Given the description of an element on the screen output the (x, y) to click on. 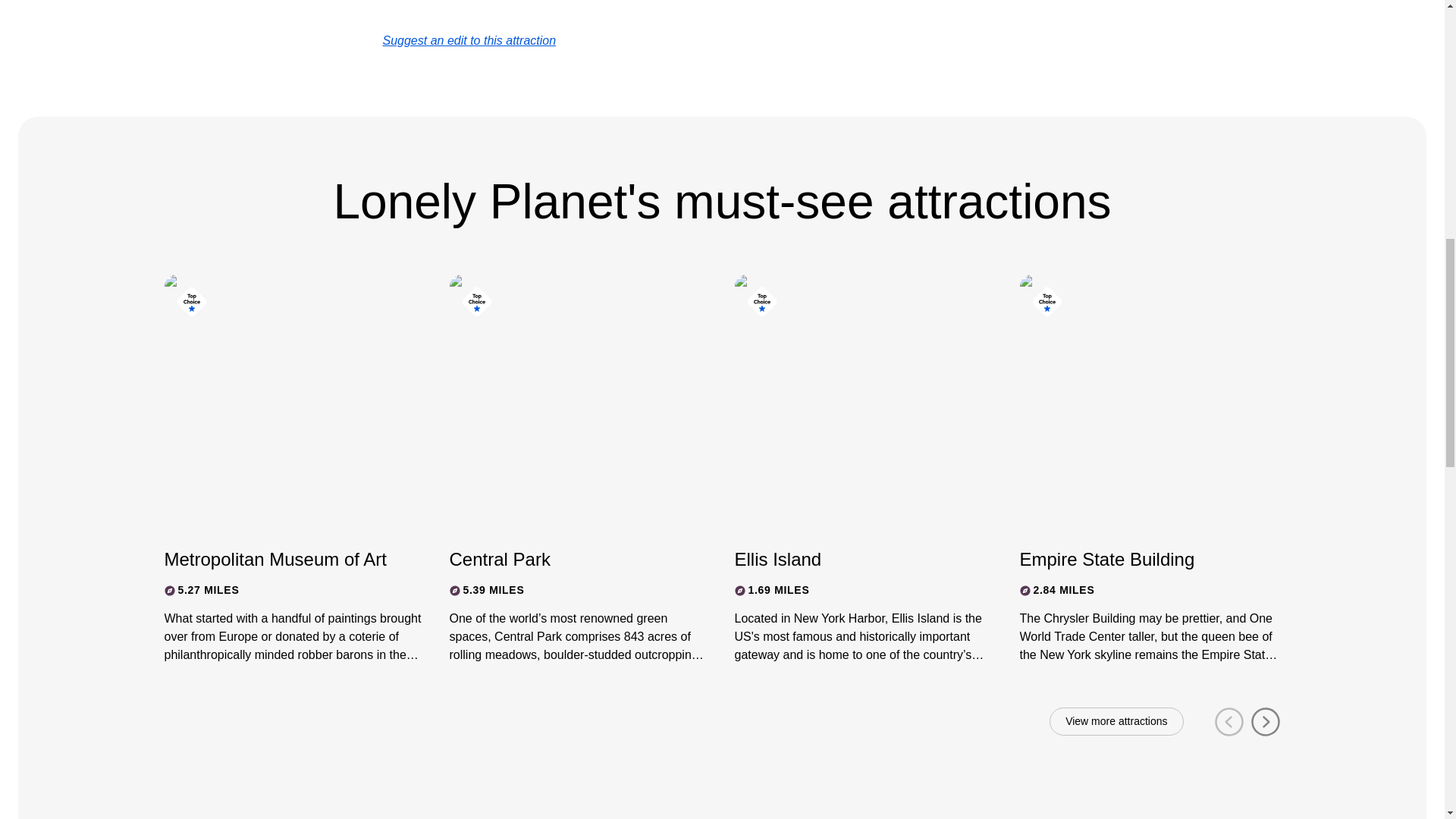
View more attractions (1115, 721)
Metropolitan Museum of Art (280, 558)
Ellis Island (851, 558)
Suggest an edit to this attraction (468, 40)
Central Park (566, 558)
Empire State Building (1136, 558)
